Given the description of an element on the screen output the (x, y) to click on. 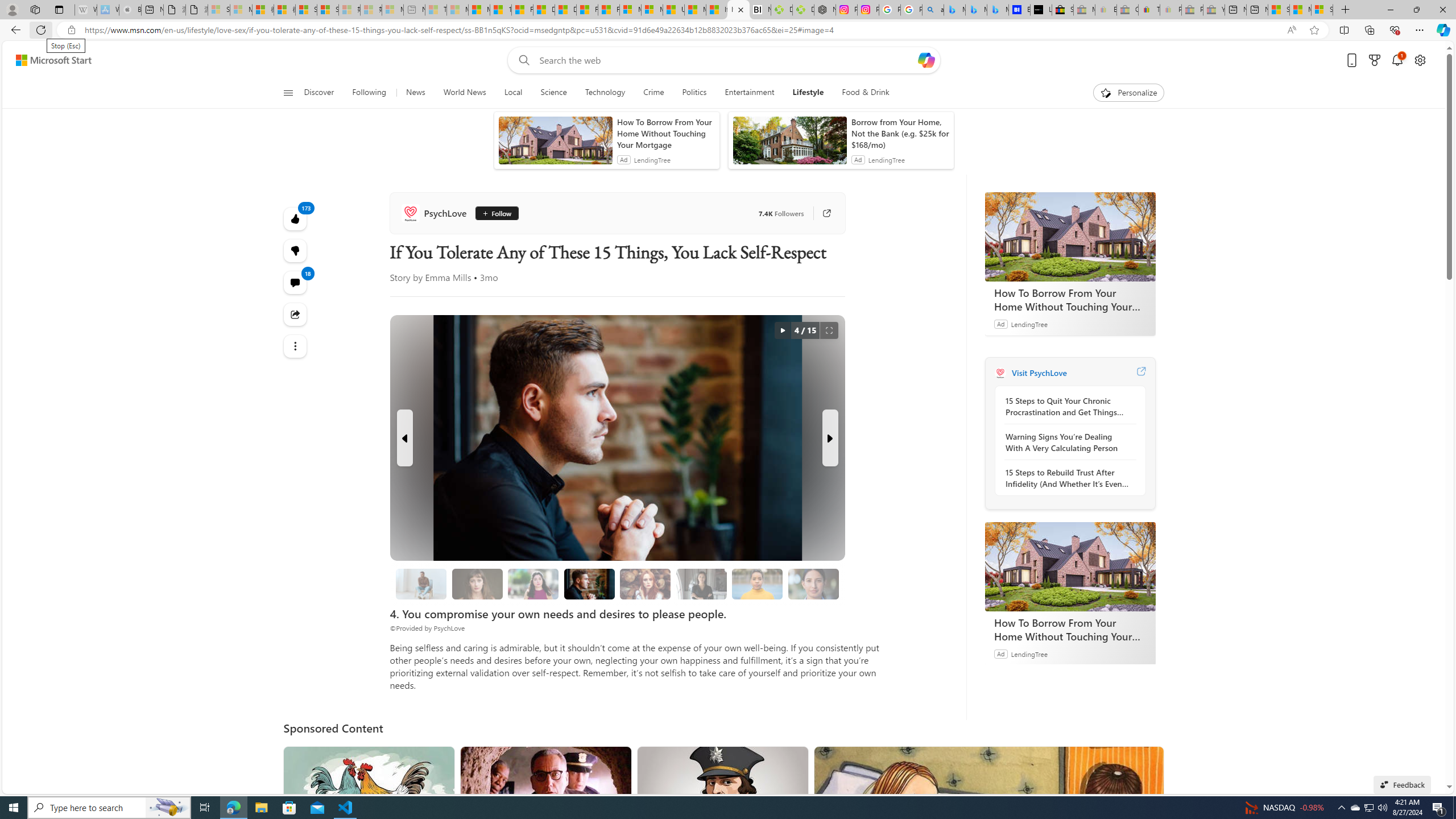
Microsoft Bing Travel - Shangri-La Hotel Bangkok (997, 9)
Visit PsychLove website (1140, 372)
Press Room - eBay Inc. - Sleeping (1192, 9)
Follow (497, 213)
Yard, Garden & Outdoor Living - Sleeping (1214, 9)
US Heat Deaths Soared To Record High Last Year (673, 9)
